Given the description of an element on the screen output the (x, y) to click on. 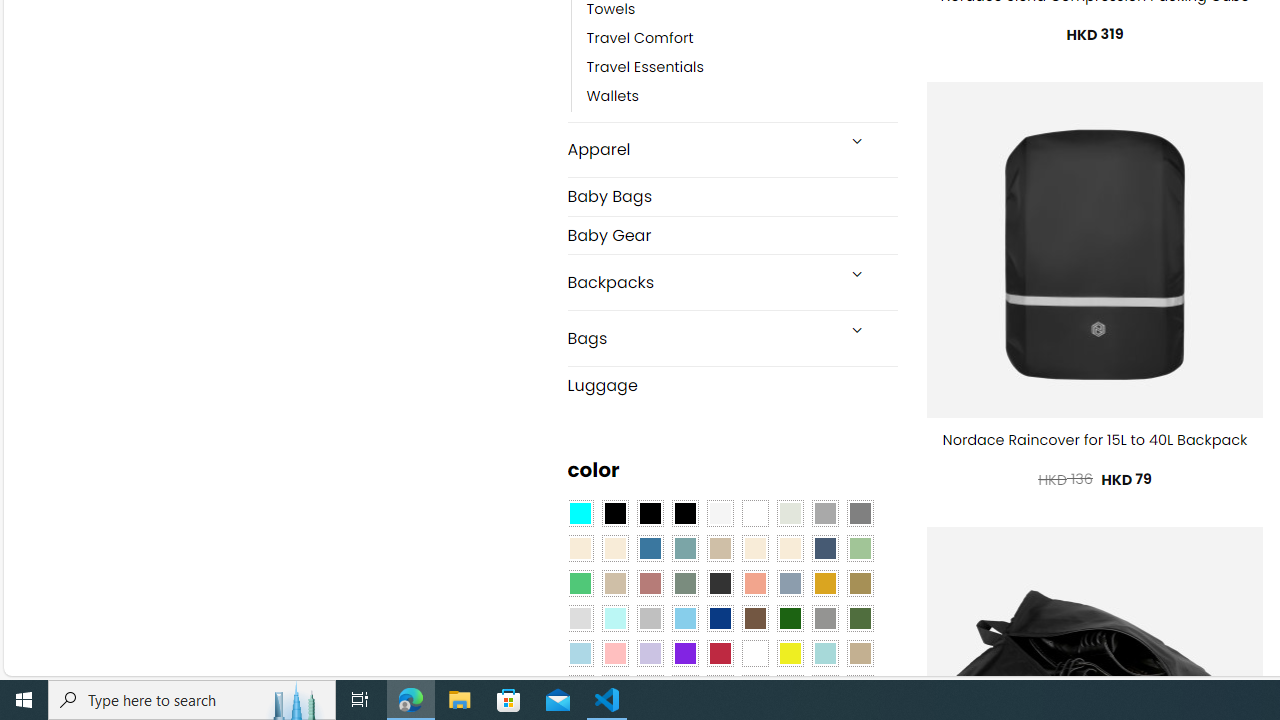
All Black (614, 514)
Light Taupe (614, 583)
Baby Bags (732, 196)
Nordace Raincover for 15L to 40L Backpack (1095, 440)
Beige (579, 548)
Silver (650, 619)
Sage (684, 583)
Luggage (732, 384)
Travel Comfort (742, 38)
Emerald Green (579, 583)
All Gray (859, 514)
Gray (824, 619)
Brownie (719, 548)
